Given the description of an element on the screen output the (x, y) to click on. 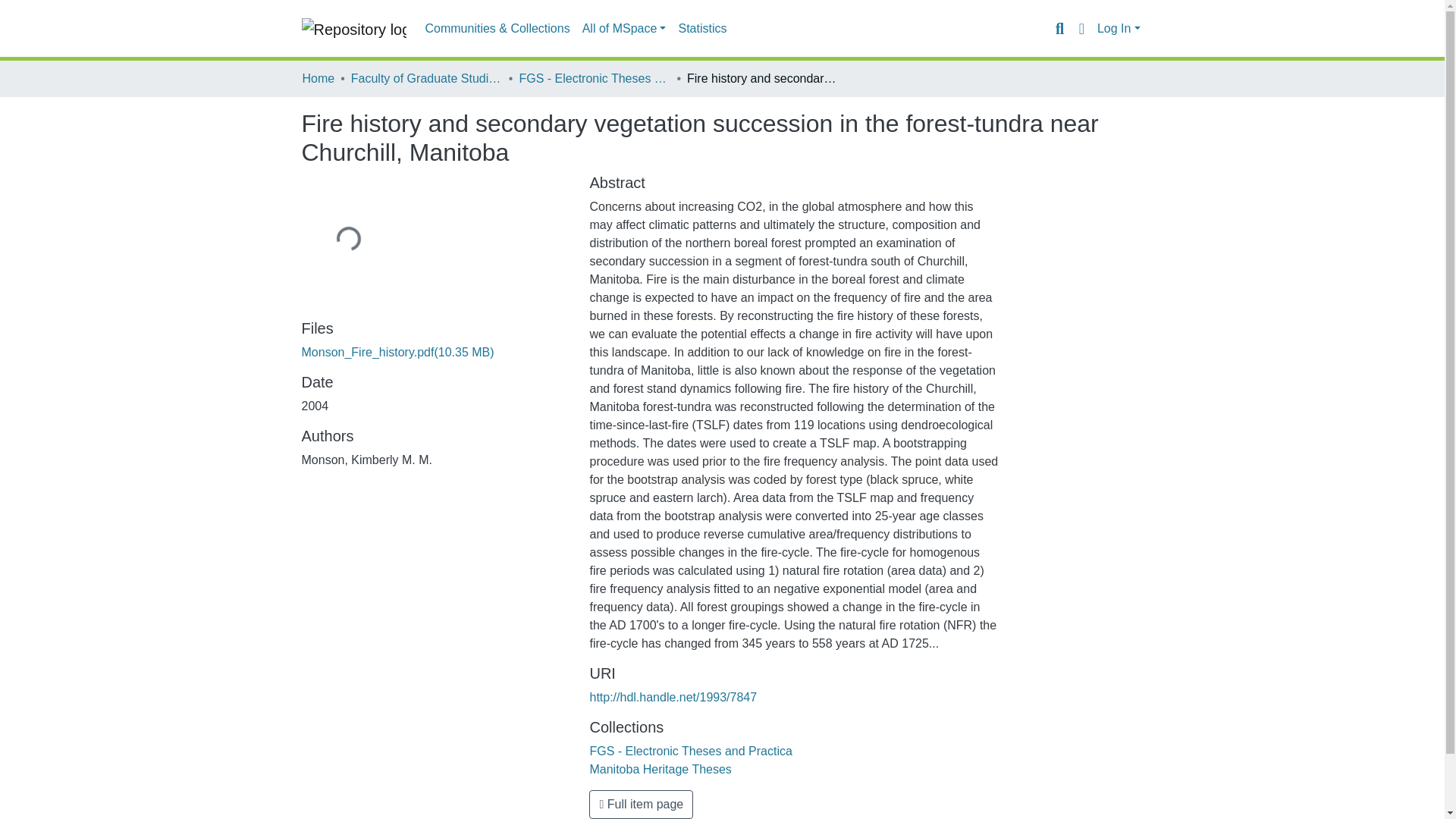
Language switch (1081, 28)
FGS - Electronic Theses and Practica (593, 78)
Log In (1118, 28)
Full item page (641, 804)
Statistics (701, 28)
All of MSpace (624, 28)
Home (317, 78)
Search (1058, 28)
Statistics (701, 28)
Manitoba Heritage Theses (659, 768)
FGS - Electronic Theses and Practica (690, 750)
